Given the description of an element on the screen output the (x, y) to click on. 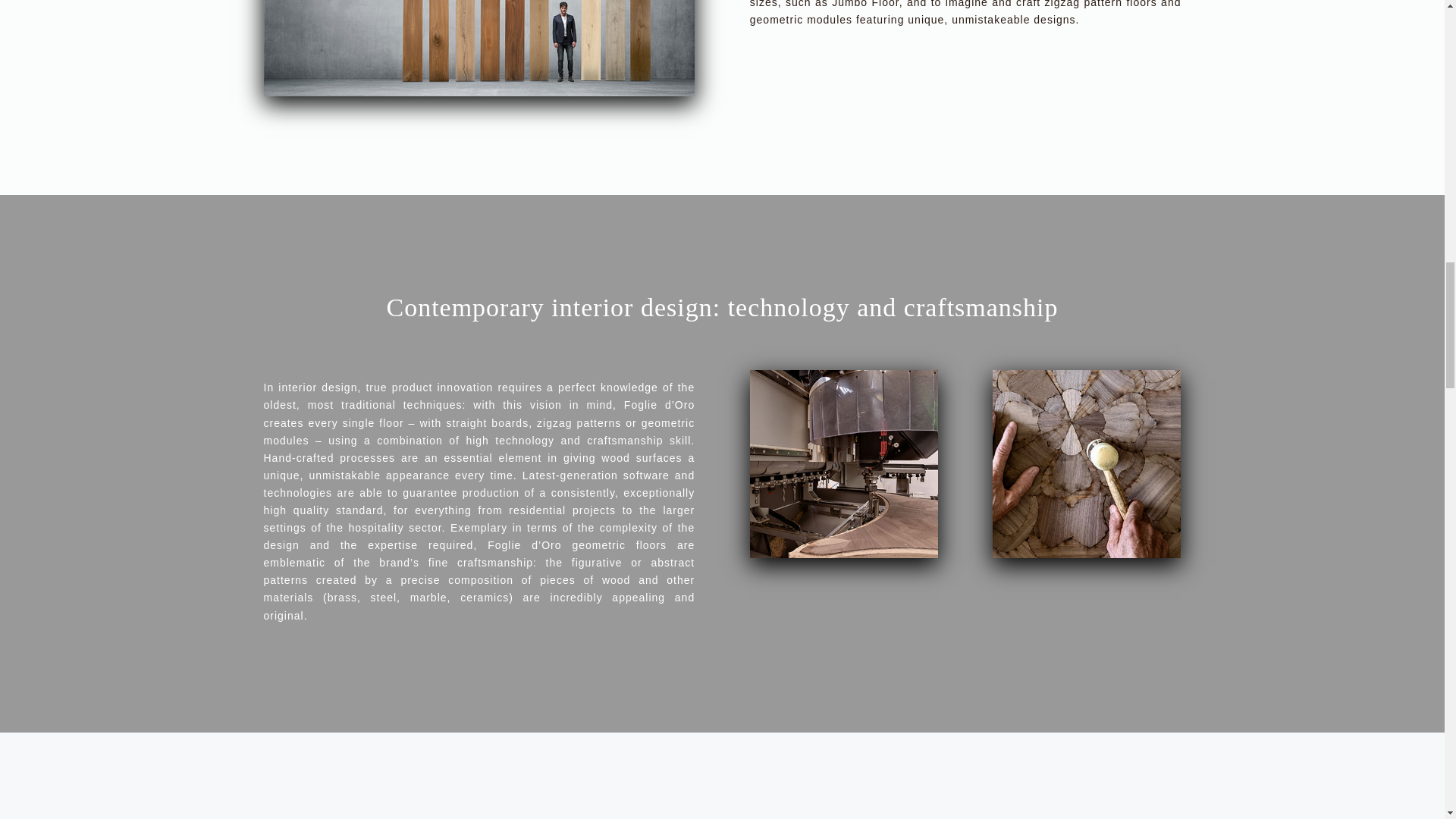
fogliedoro-lavorazioni-intarsio (1086, 463)
fogliedoro-lavorazioni-sagomatura (843, 463)
